Given the description of an element on the screen output the (x, y) to click on. 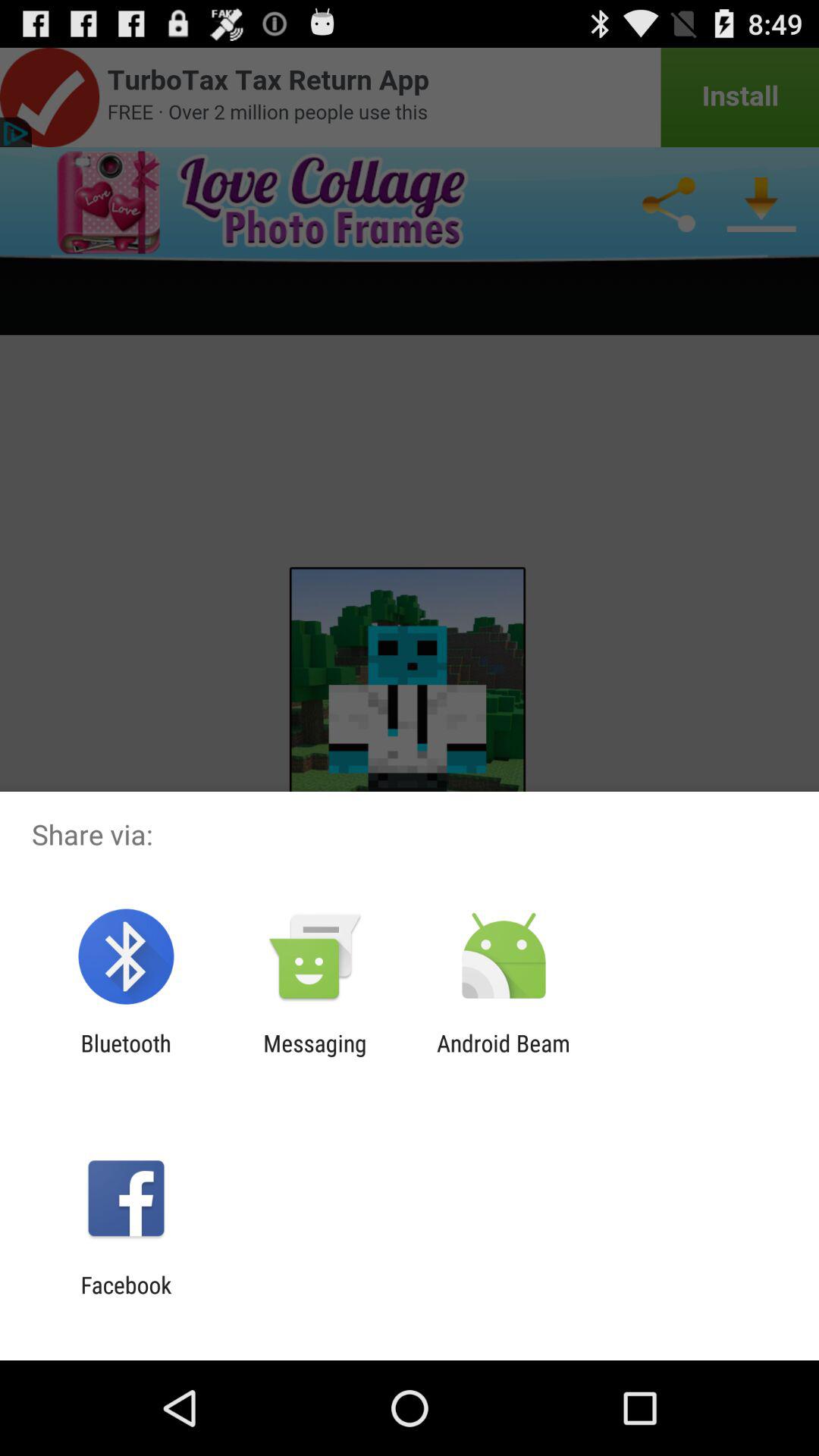
turn on app to the right of bluetooth item (314, 1056)
